Given the description of an element on the screen output the (x, y) to click on. 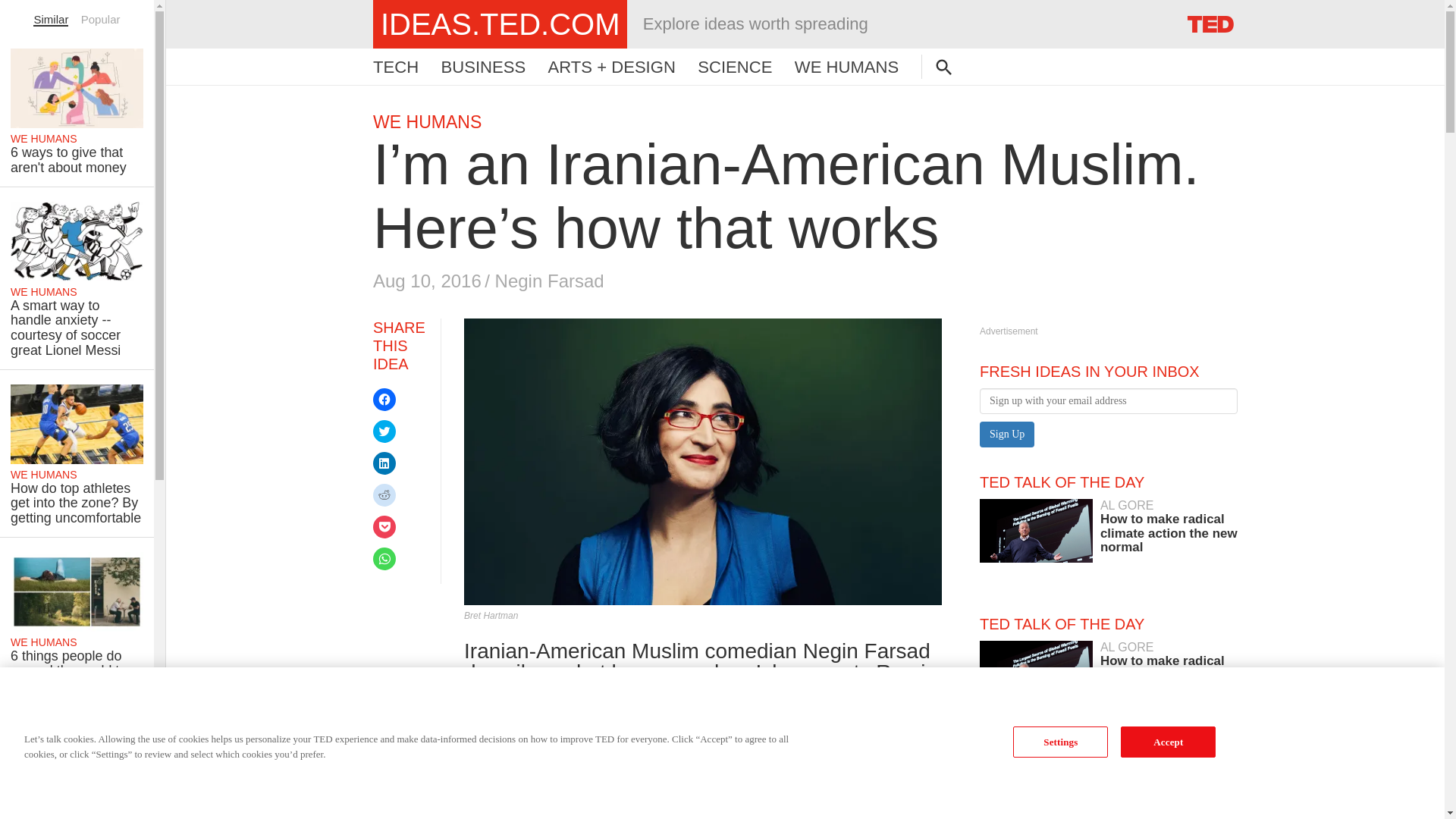
Click to share on WhatsApp (77, 109)
Negin Farsad (384, 558)
TECH (549, 281)
BUSINESS (1108, 526)
Click to share on Twitter (395, 66)
Sign Up (483, 66)
Click to share on LinkedIn (384, 431)
IDEAS.TED.COM (1006, 812)
Popular (384, 463)
WE HUMANS (499, 24)
Click to share on Pocket (100, 19)
SCIENCE (426, 121)
Similar (384, 526)
